Given the description of an element on the screen output the (x, y) to click on. 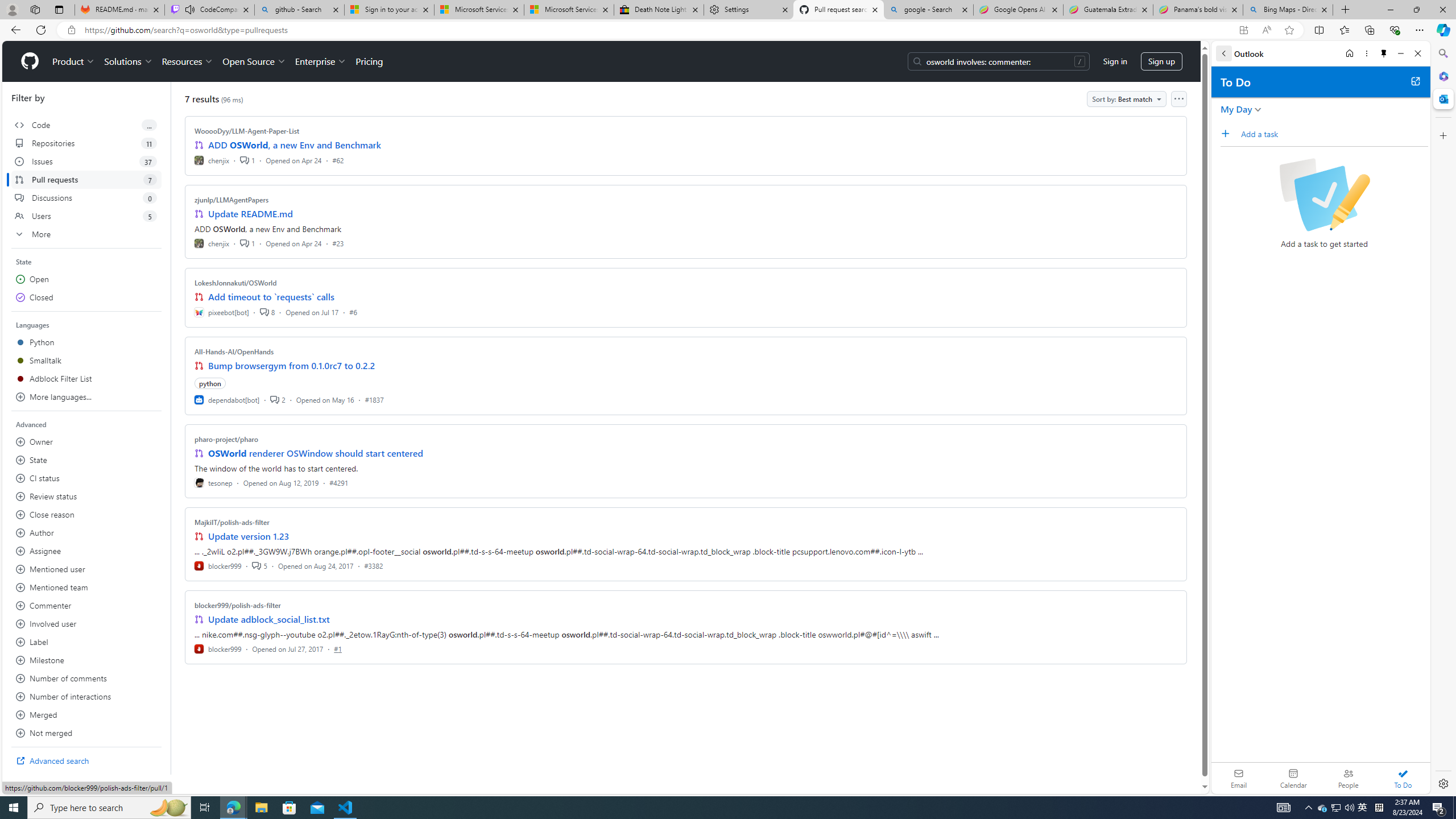
Sign in to your account (389, 9)
8 (267, 311)
Add timeout to `requests` calls (271, 296)
MajkiIT/polish-ads-filter (232, 521)
#1 (337, 648)
#6 (352, 311)
Sign up (1161, 61)
